Given the description of an element on the screen output the (x, y) to click on. 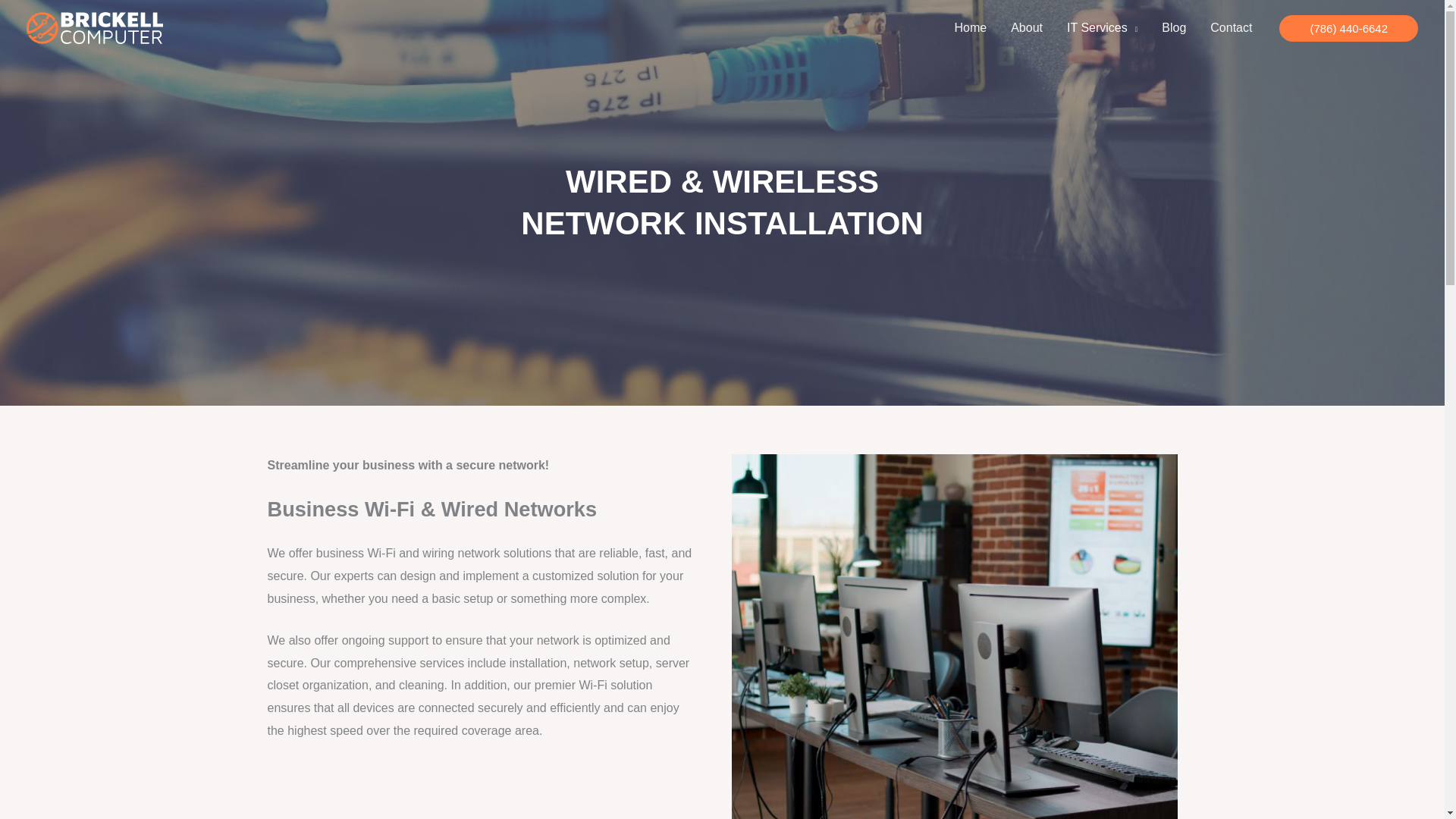
IT Services (1102, 27)
Blog (1174, 27)
Contact (1230, 27)
Home (970, 27)
About (1026, 27)
